Given the description of an element on the screen output the (x, y) to click on. 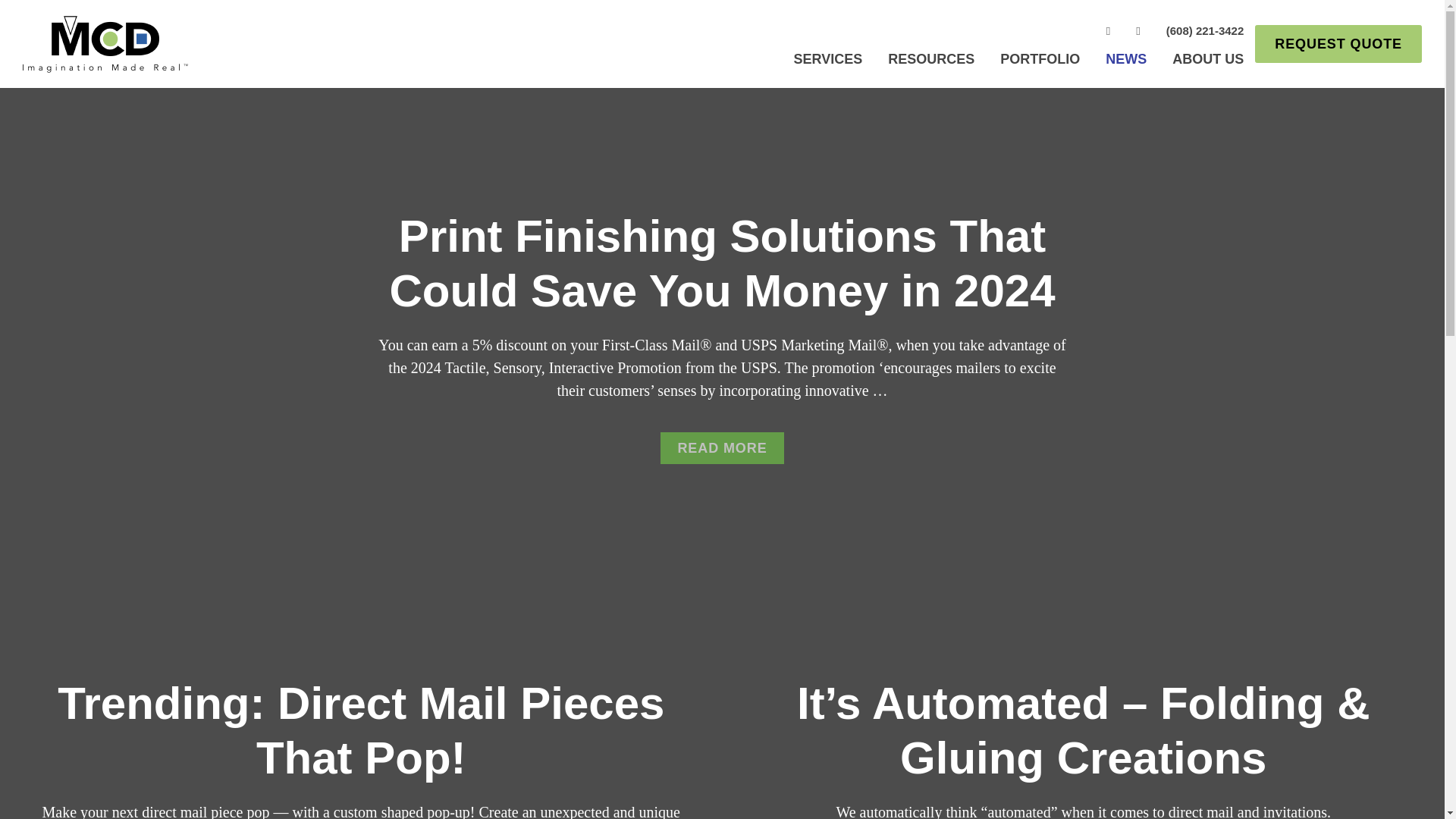
PORTFOLIO (1039, 63)
REQUEST QUOTE (1338, 44)
ABOUT US (1207, 63)
RESOURCES (930, 63)
SERVICES (829, 63)
NEWS (1125, 63)
